Given the description of an element on the screen output the (x, y) to click on. 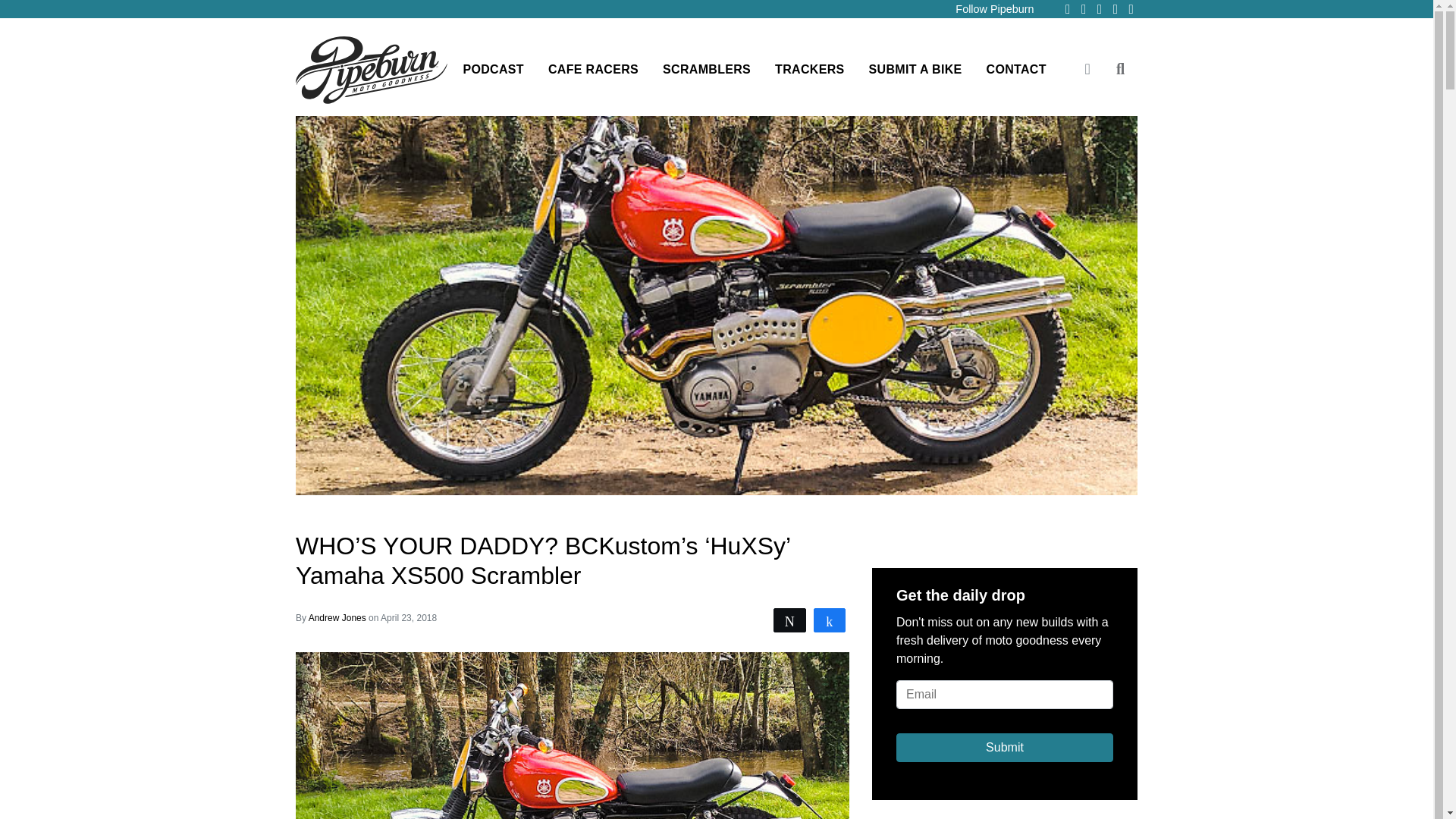
Andrew Jones (338, 617)
PODCAST (492, 69)
TRACKERS (809, 69)
SCRAMBLERS (706, 69)
SUBMIT A BIKE (915, 69)
CAFE RACERS (592, 69)
Submit (1004, 747)
CONTACT (1016, 69)
